Given the description of an element on the screen output the (x, y) to click on. 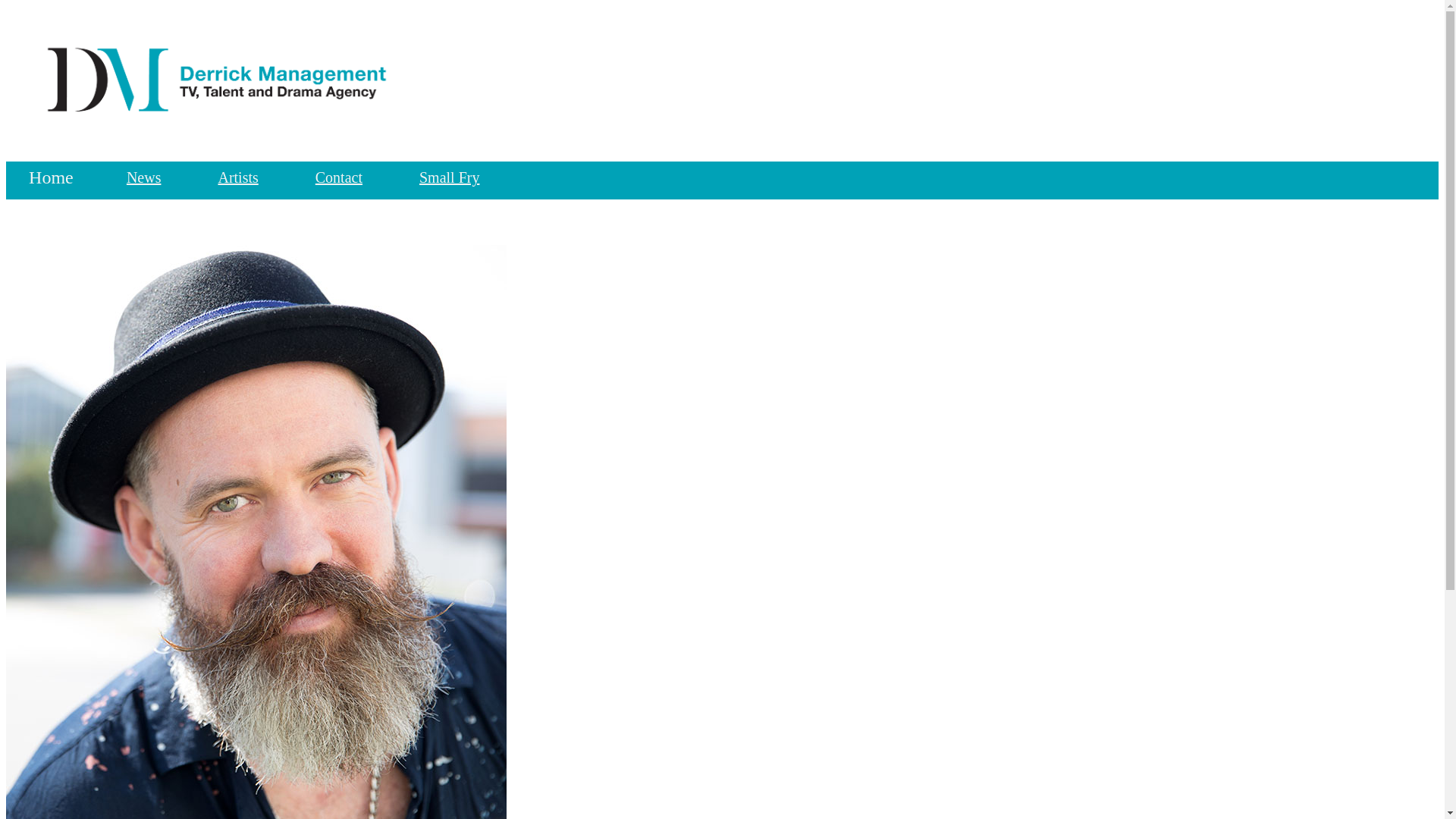
News Element type: text (144, 177)
Small Fry Element type: text (448, 177)
Artists Element type: text (237, 177)
Contact Element type: text (338, 177)
